Given the description of an element on the screen output the (x, y) to click on. 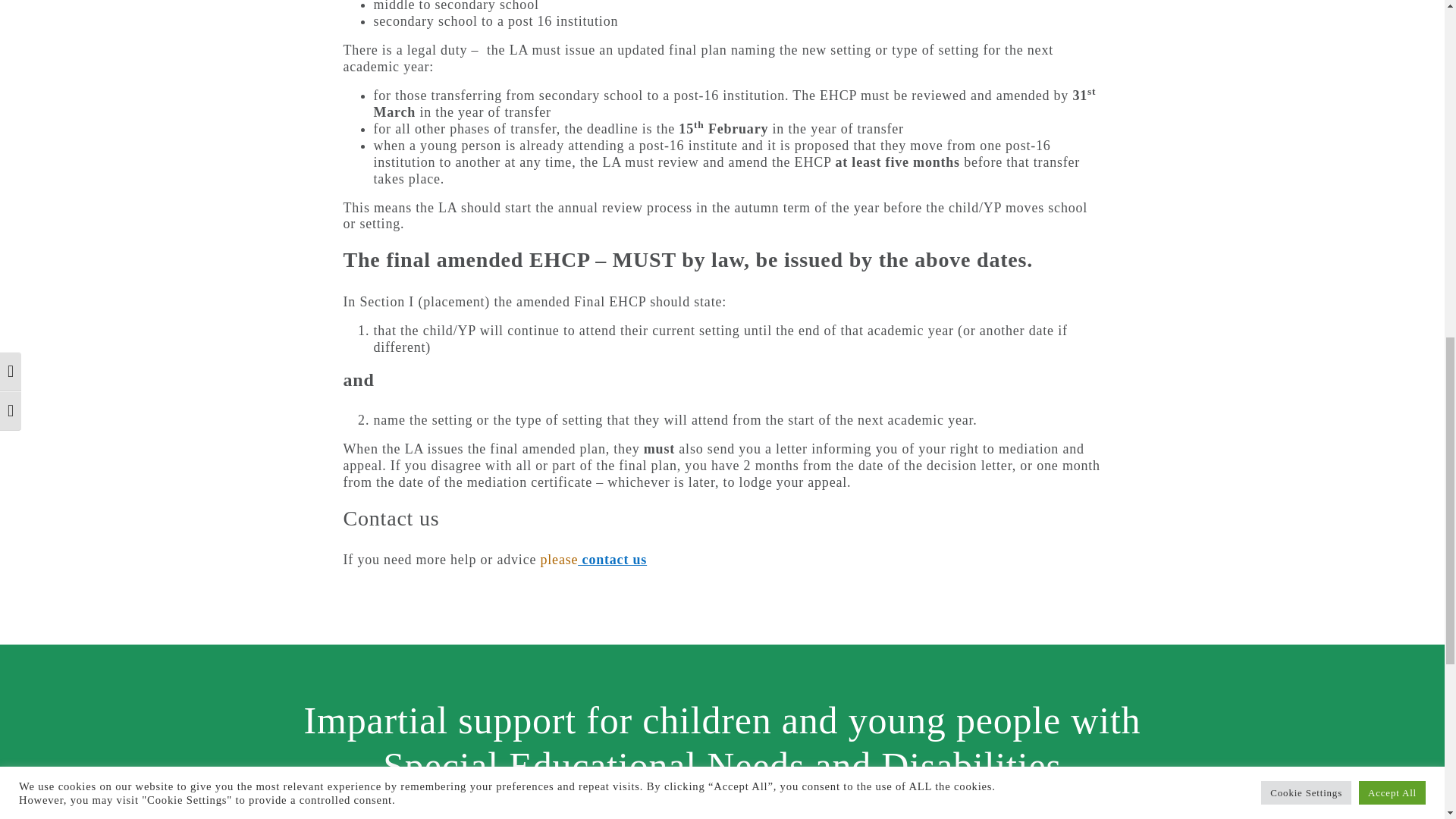
please contact us (593, 559)
